Given the description of an element on the screen output the (x, y) to click on. 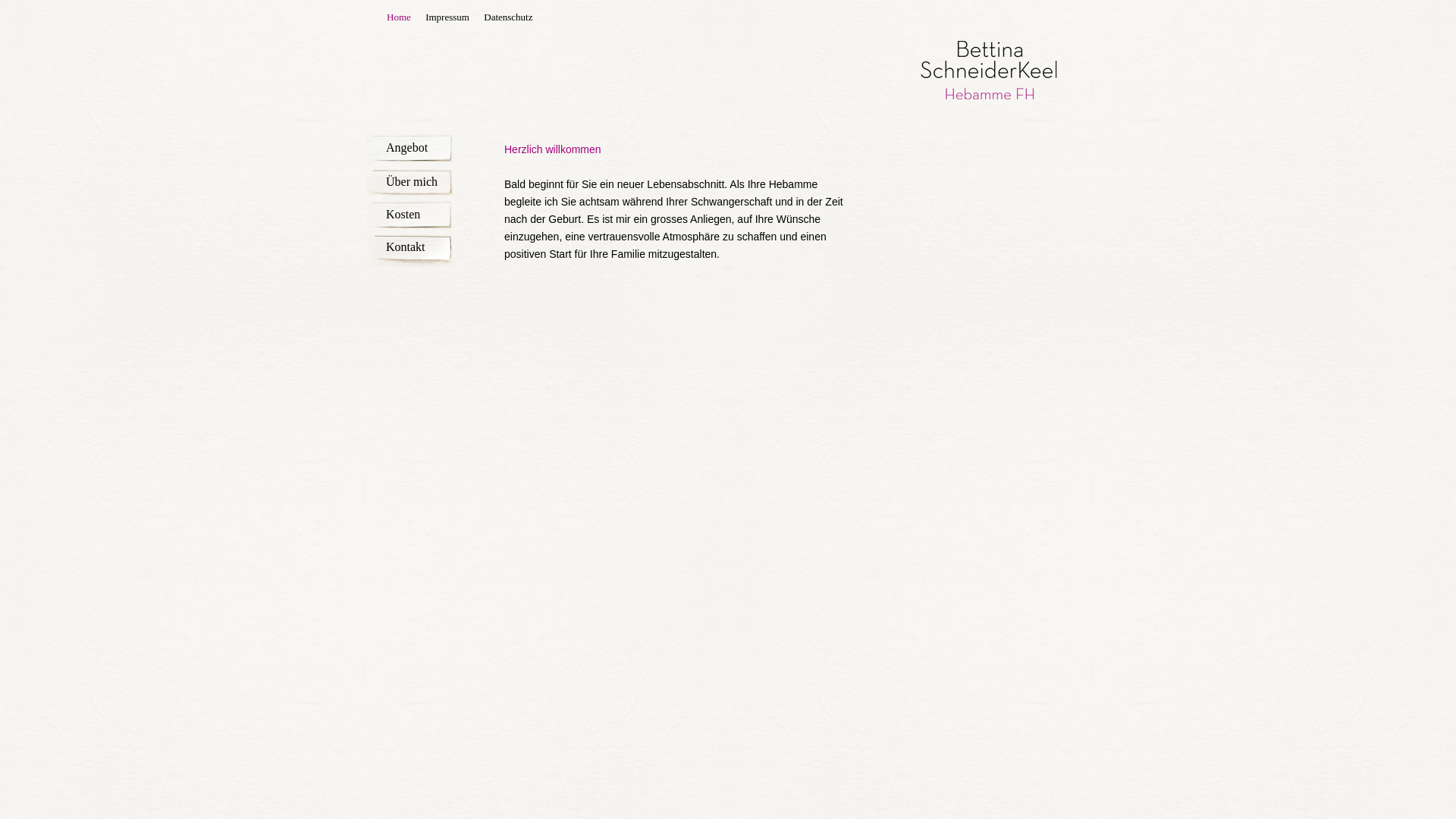
Angebot Element type: text (412, 142)
Kontakt Element type: text (412, 242)
Bettina SchneiderKeel - Home Element type: hover (988, 99)
Impressum Element type: text (447, 16)
Kosten Element type: text (412, 209)
Datenschutz Element type: text (507, 16)
Home Element type: text (398, 16)
